Given the description of an element on the screen output the (x, y) to click on. 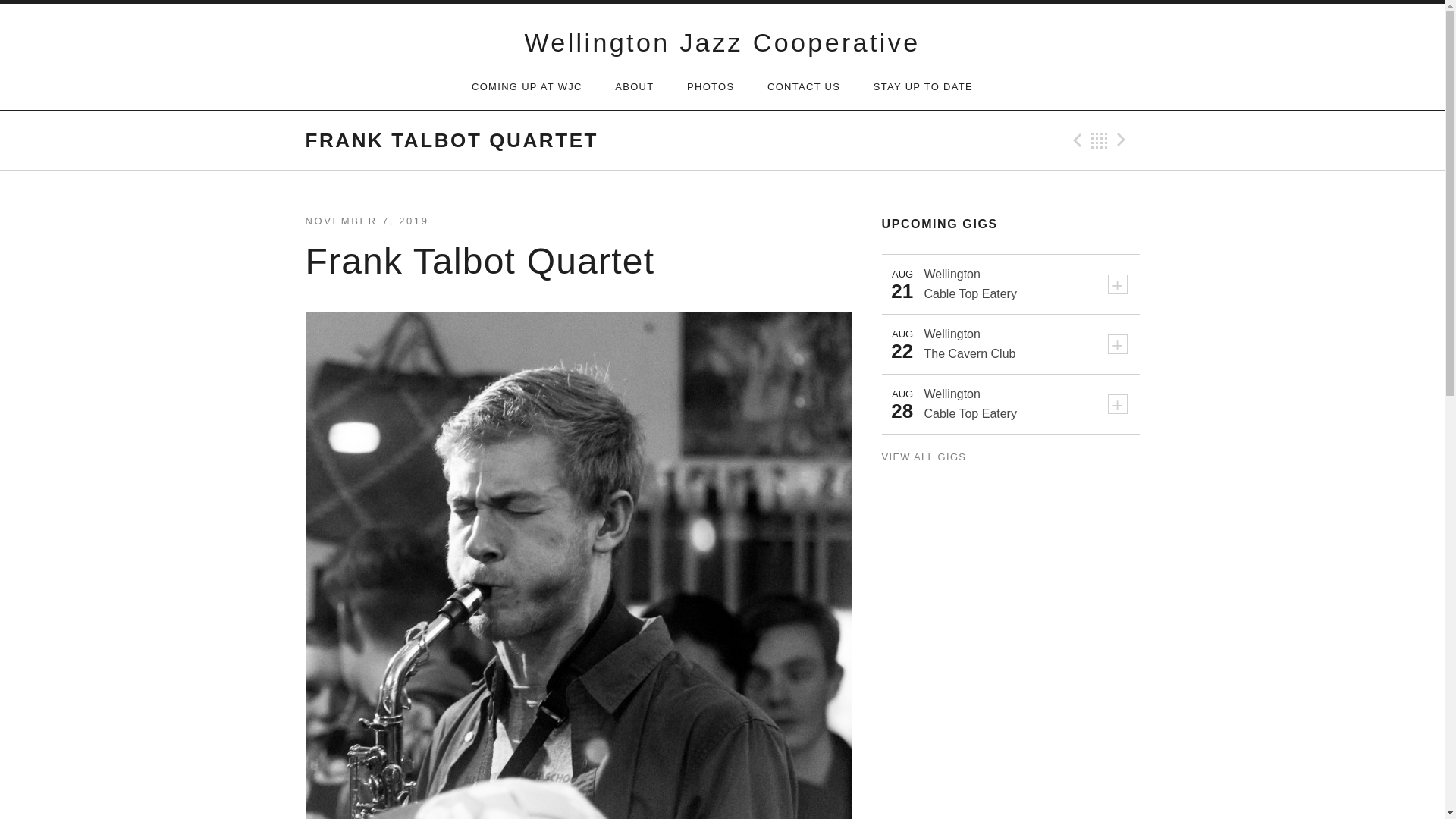
ABOUT (633, 86)
View Details (1116, 284)
VIEW ALL GIGS (923, 456)
Back (1099, 139)
Previous Post (1074, 139)
View Details (1116, 403)
Wellington Jazz Cooperative (722, 41)
View Details (1116, 343)
COMING UP AT WJC (526, 86)
PHOTOS (710, 86)
